Given the description of an element on the screen output the (x, y) to click on. 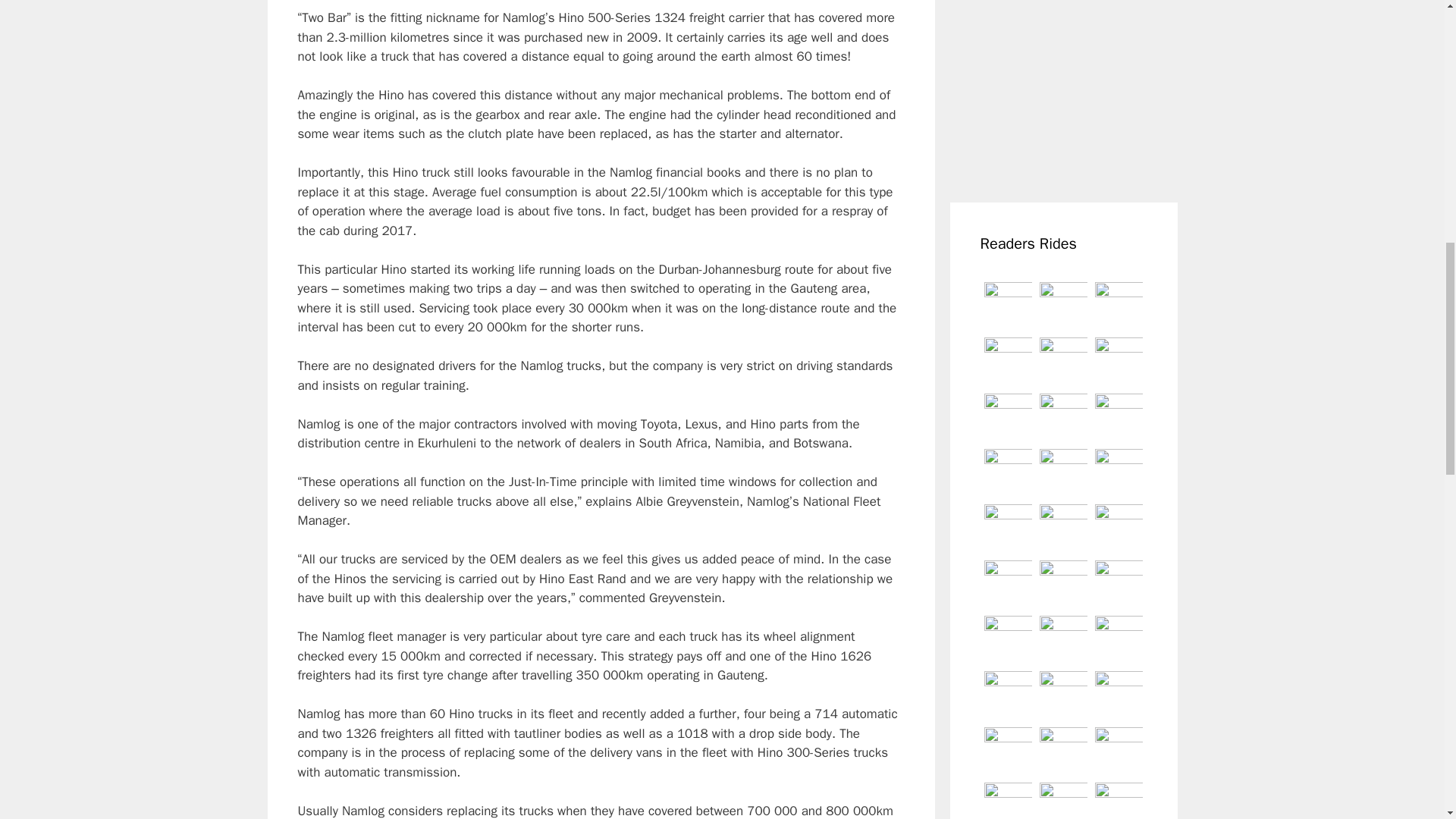
Scroll back to top (1406, 720)
